Given the description of an element on the screen output the (x, y) to click on. 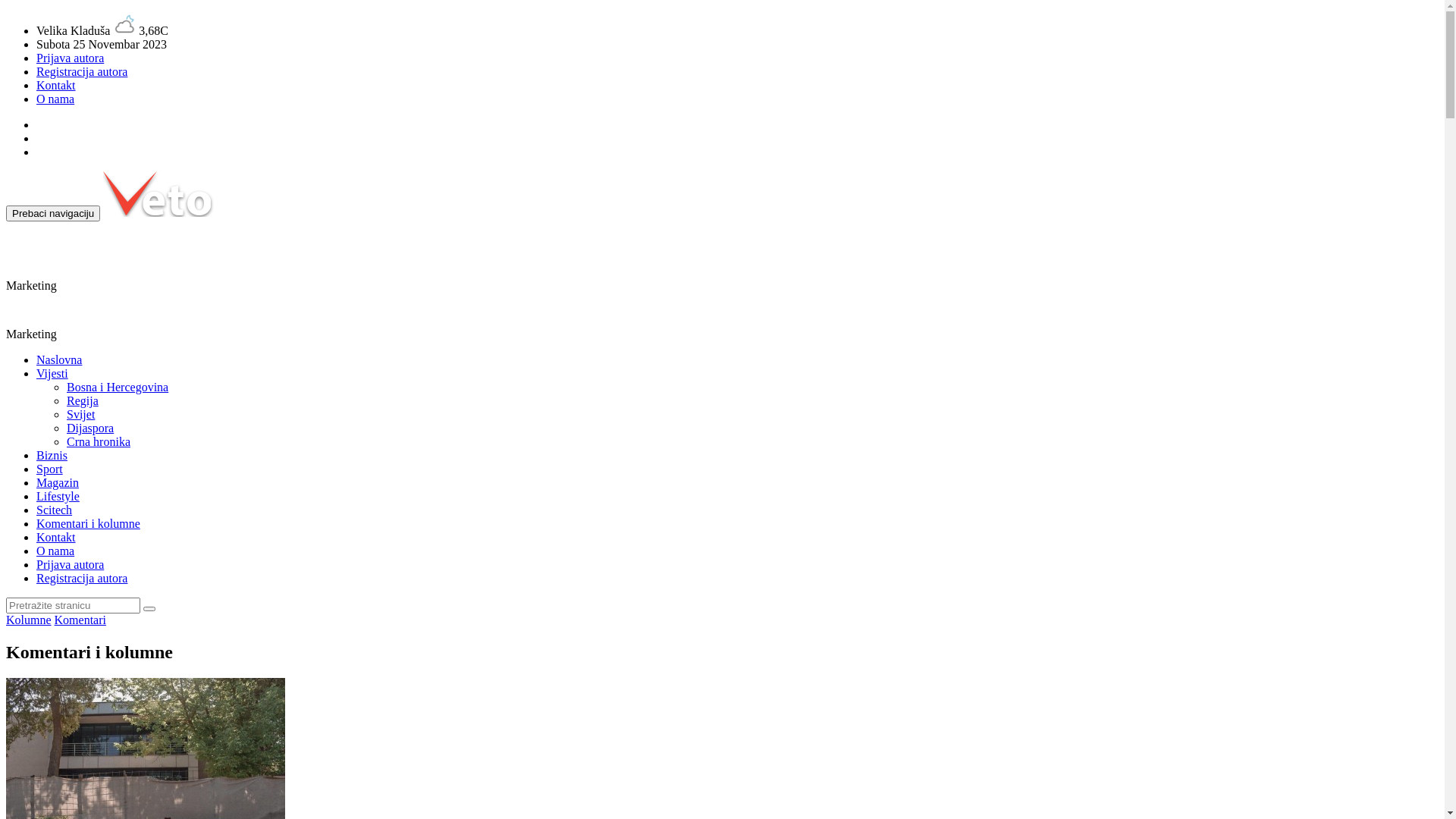
Prijava autora Element type: text (69, 564)
Advertisement Element type: hover (236, 315)
Sport Element type: text (49, 468)
O nama Element type: text (55, 98)
Vijesti Element type: text (52, 373)
Biznis Element type: text (51, 454)
Lifestyle Element type: text (57, 495)
Kolumne Element type: text (28, 619)
Kontakt Element type: text (55, 536)
Registracija autora Element type: text (81, 577)
Komentari i kolumne Element type: text (88, 523)
Bosna i Hercegovina Element type: text (117, 386)
Scitech Element type: text (54, 509)
Dijaspora Element type: text (89, 427)
Kontakt Element type: text (55, 84)
Svijet Element type: text (80, 413)
Crna hronika Element type: text (98, 441)
Prijava autora Element type: text (69, 57)
Registracija autora Element type: text (81, 71)
Regija Element type: text (82, 400)
Prebaci navigaciju Element type: text (53, 213)
Naslovna Element type: text (58, 359)
O nama Element type: text (55, 550)
Magazin Element type: text (57, 482)
Komentari Element type: text (80, 619)
Advertisement Element type: hover (335, 255)
